Given the description of an element on the screen output the (x, y) to click on. 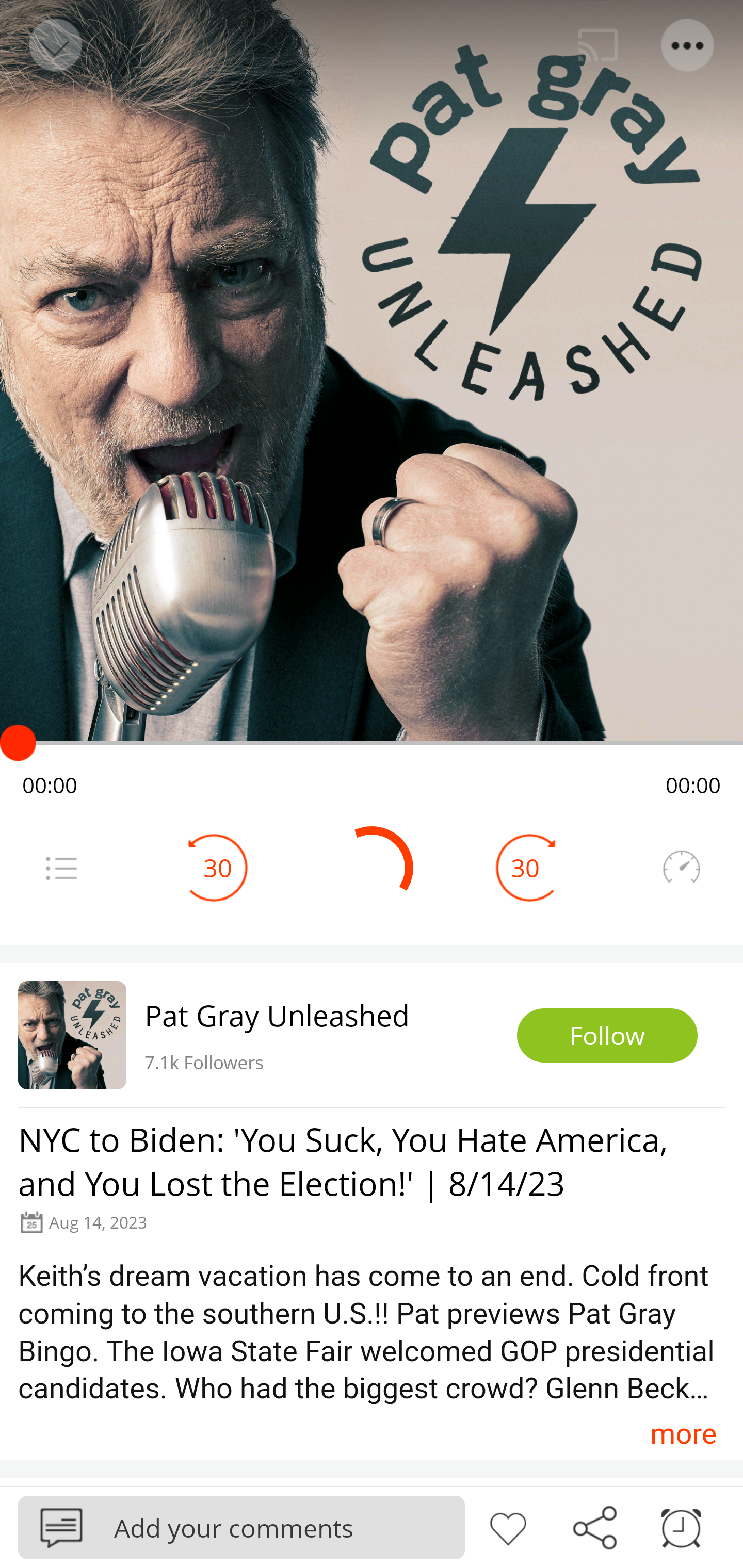
Back (53, 45)
Cast. Disconnected (597, 45)
Menu (688, 45)
30 Seek Backward (217, 867)
30 Seek Forward (525, 867)
Menu (60, 867)
Speedometer (681, 867)
Pat Gray Unleashed 7.1k Followers Follow (371, 1034)
Follow (607, 1035)
more (682, 1432)
Like (508, 1526)
Share (594, 1526)
Sleep timer (681, 1526)
Podbean Add your comments (241, 1526)
